Given the description of an element on the screen output the (x, y) to click on. 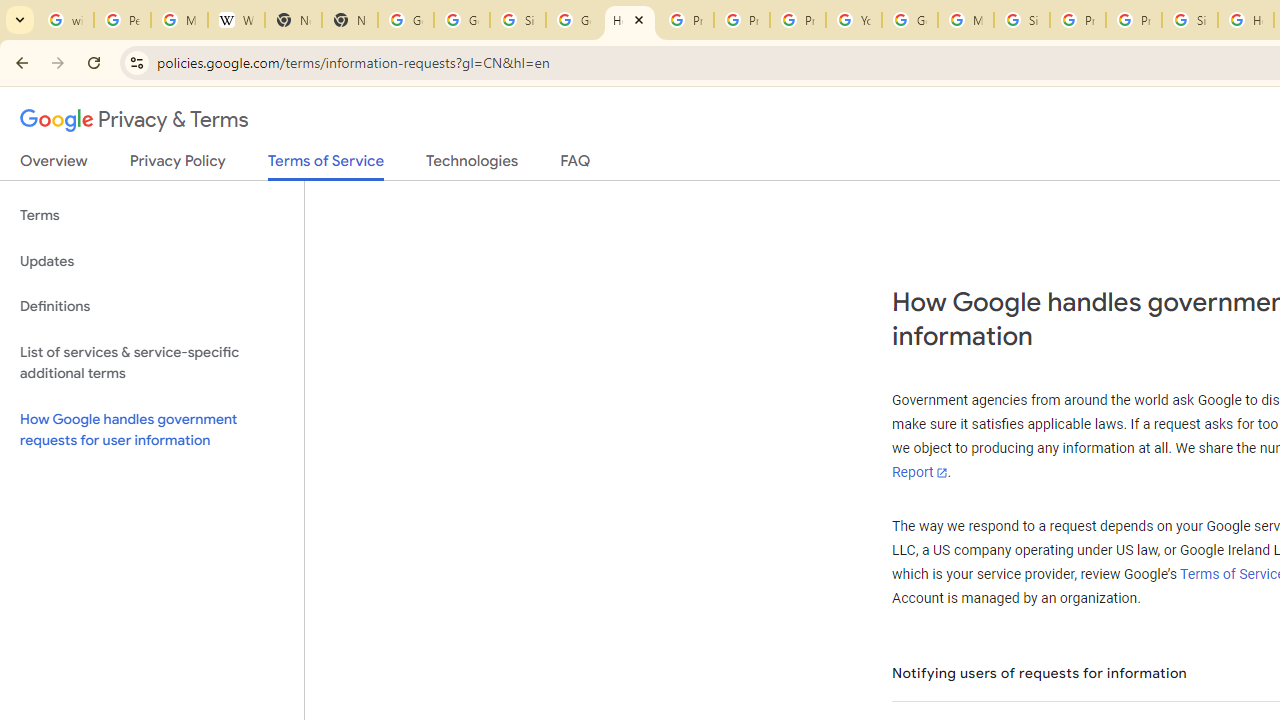
List of services & service-specific additional terms (152, 362)
New Tab (293, 20)
Manage your Location History - Google Search Help (179, 20)
